Given the description of an element on the screen output the (x, y) to click on. 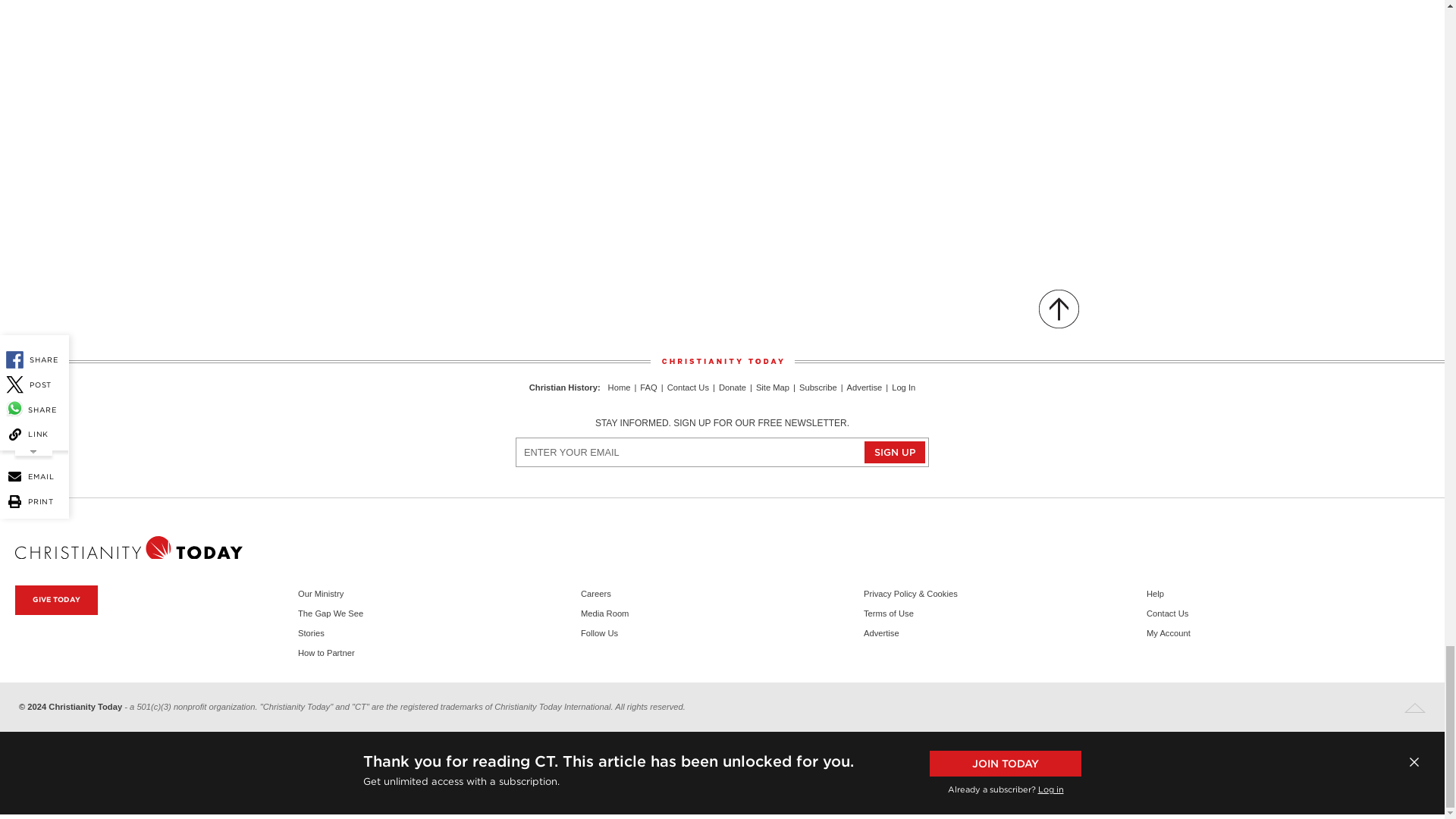
Sign Up (894, 452)
